Given the description of an element on the screen output the (x, y) to click on. 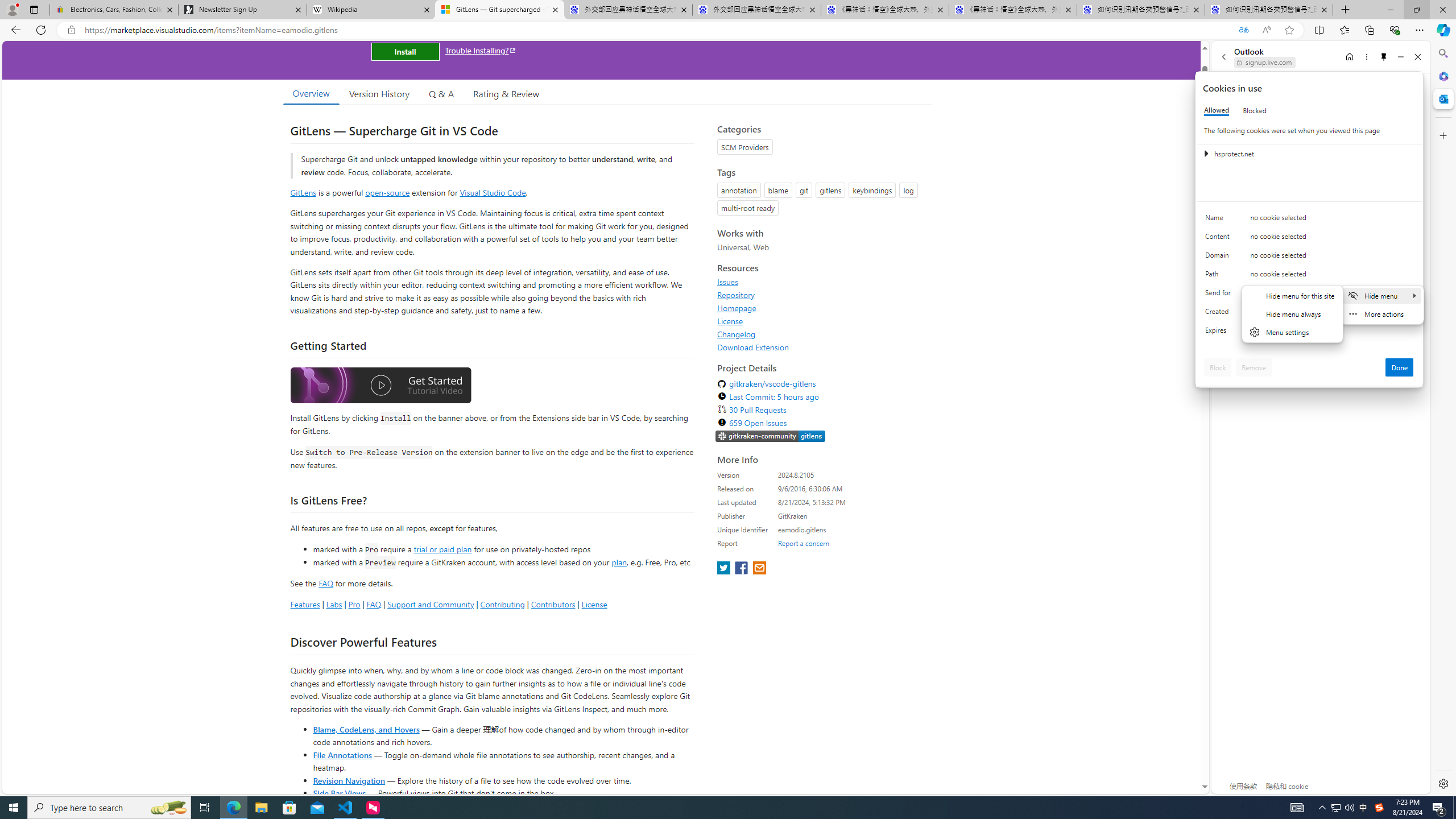
Hide menu always (1291, 313)
Content (1219, 239)
Remove (1253, 367)
Class: c0153 c0157 c0154 (1309, 220)
Class: c0153 c0157 (1309, 332)
Mini menu on text selection (1381, 304)
Blocked (1255, 110)
Allowed (1216, 110)
Created (1219, 313)
